Given the description of an element on the screen output the (x, y) to click on. 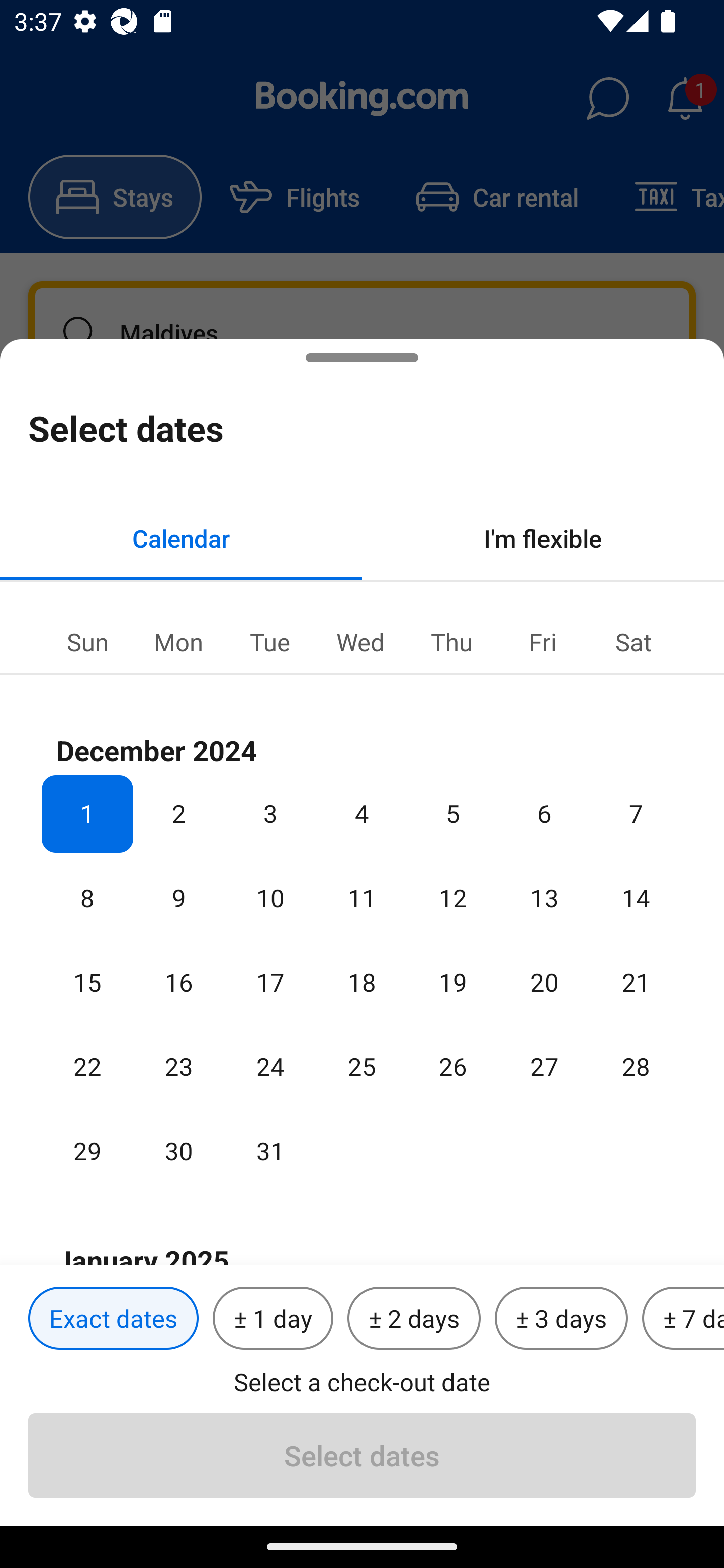
I'm flexible (543, 537)
Exact dates (113, 1318)
± 1 day (272, 1318)
± 2 days (413, 1318)
± 3 days (560, 1318)
± 7 days (683, 1318)
Select dates (361, 1454)
